Given the description of an element on the screen output the (x, y) to click on. 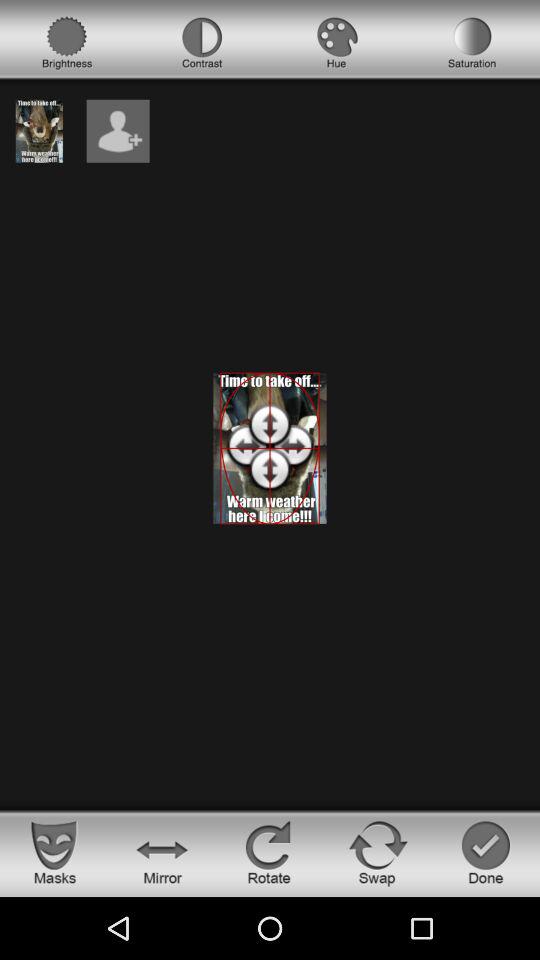
swap image position (377, 852)
